Given the description of an element on the screen output the (x, y) to click on. 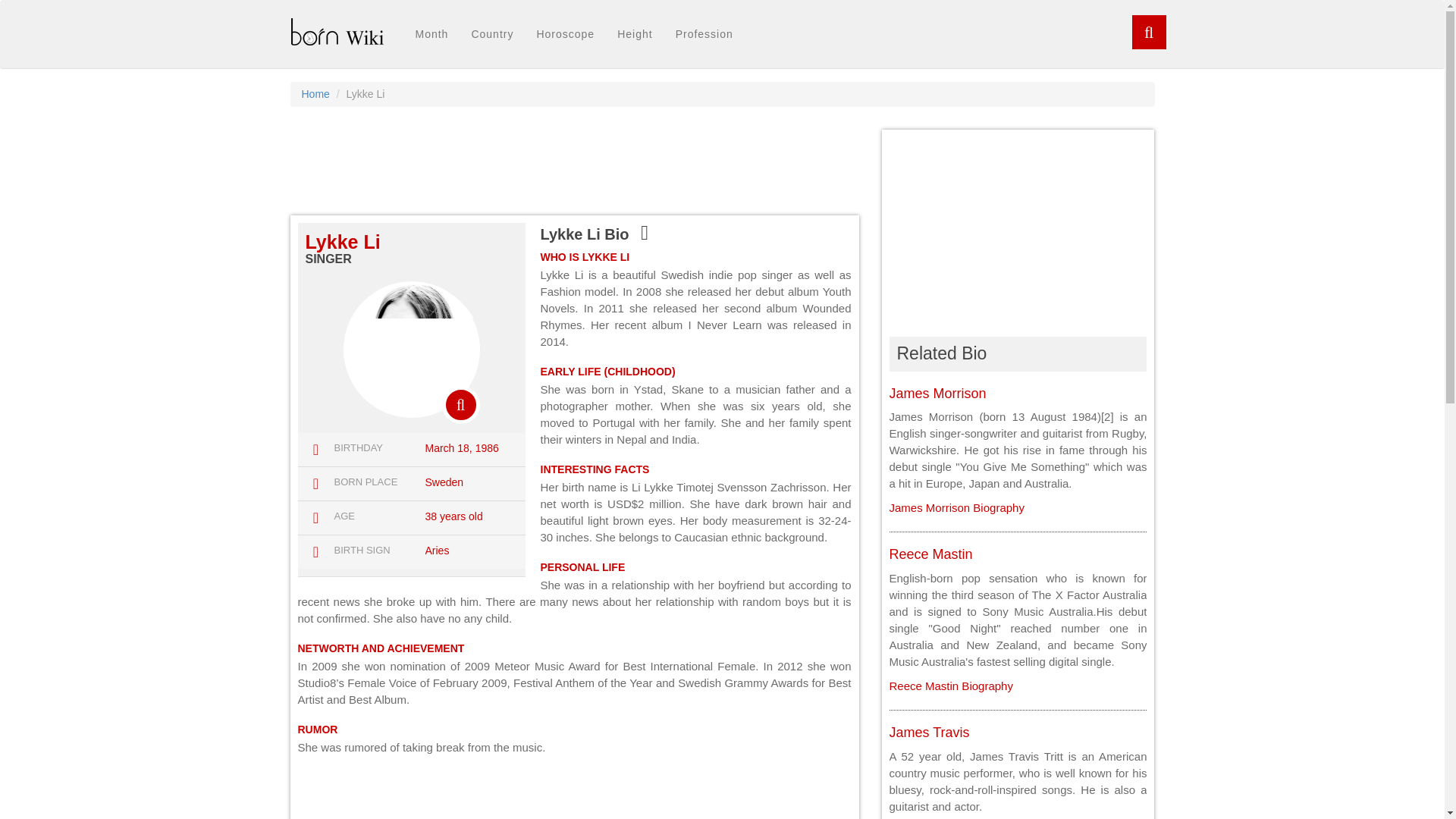
Horoscope (564, 34)
Height (634, 34)
Reece Mastin Biography (949, 685)
Month (431, 34)
Aries (436, 550)
James Travis  (928, 732)
James Morrison (936, 393)
SINGER (327, 258)
March 18, (448, 448)
Country (492, 34)
